Given the description of an element on the screen output the (x, y) to click on. 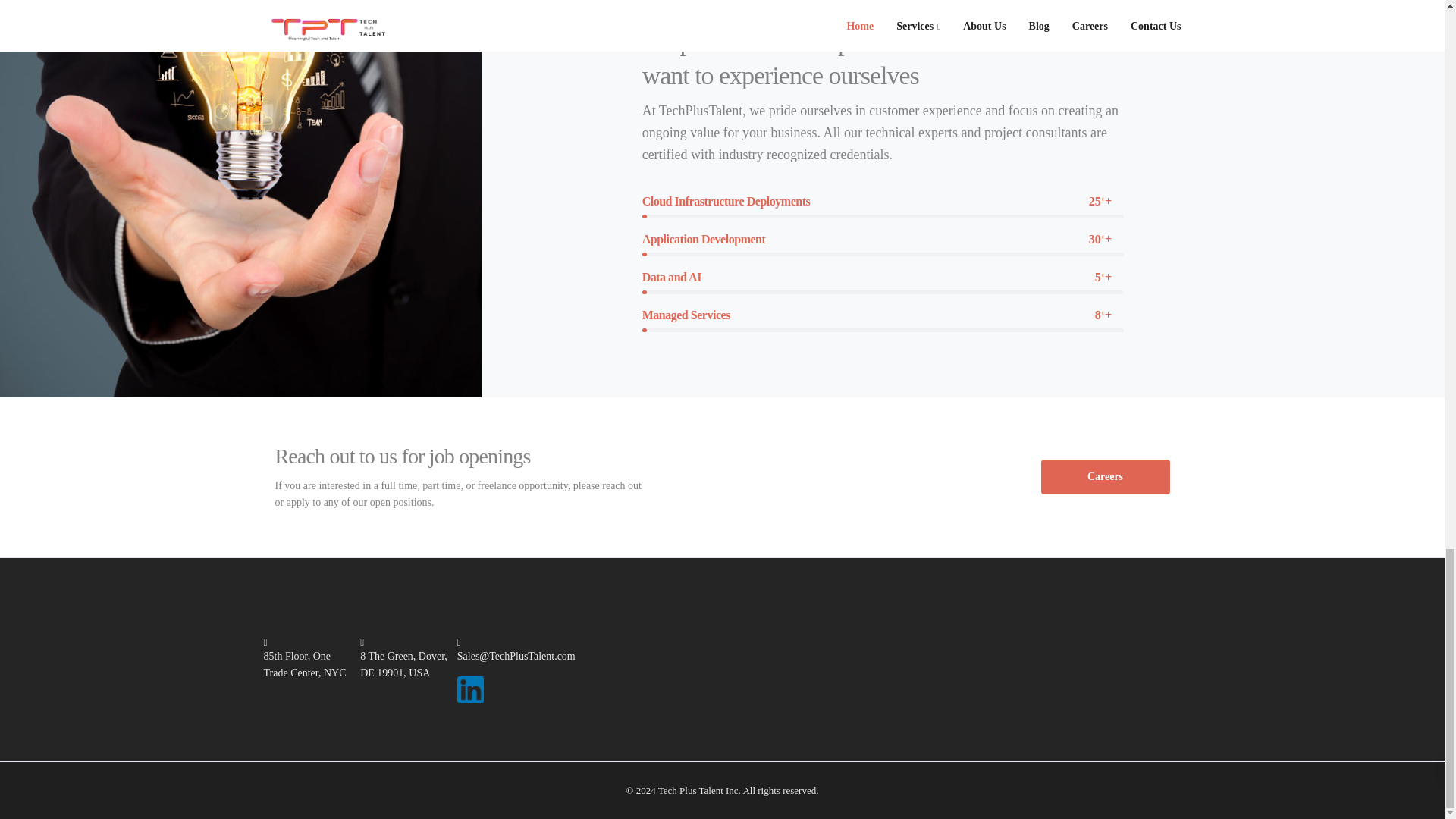
Careers (1105, 476)
